Given the description of an element on the screen output the (x, y) to click on. 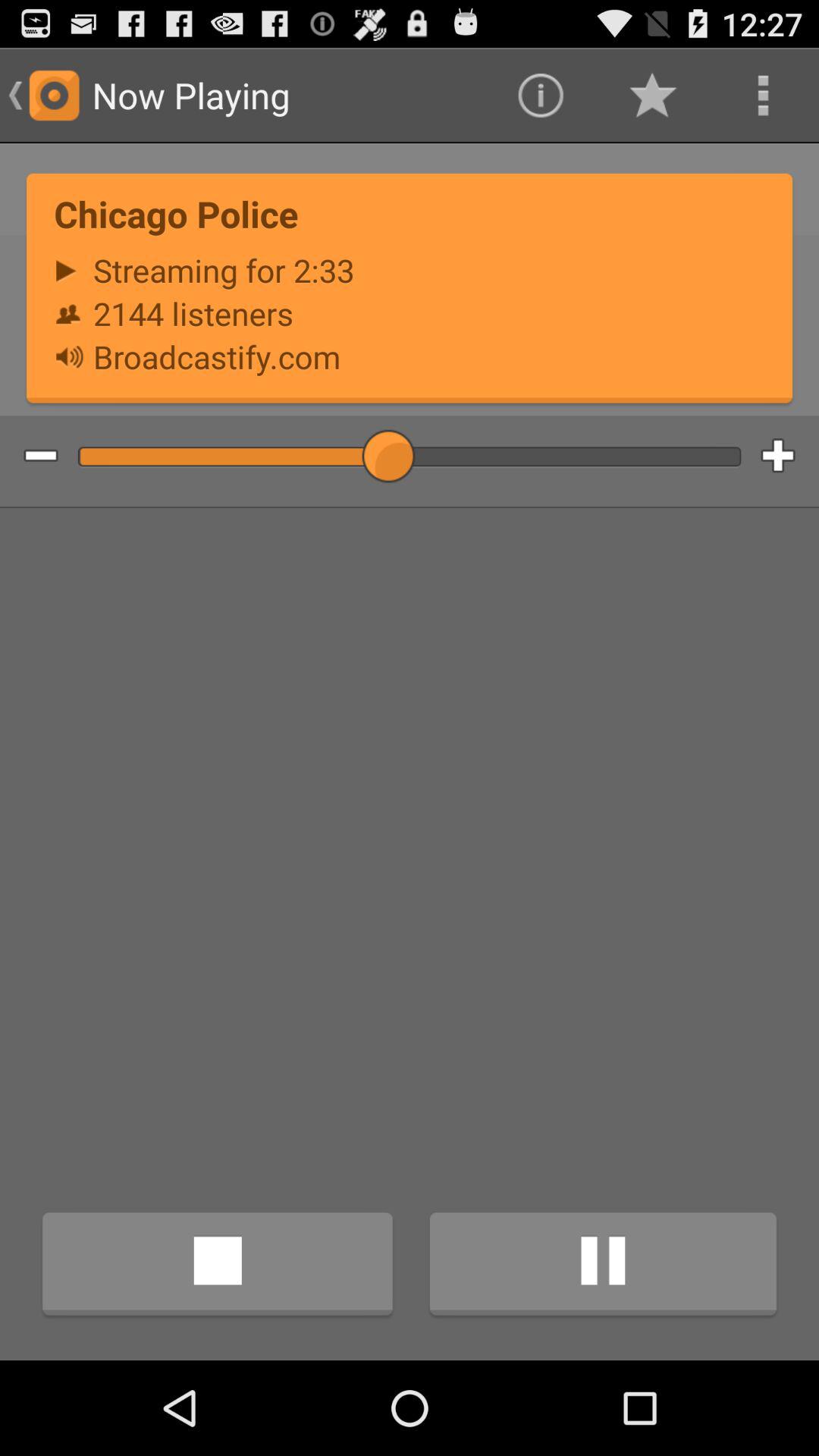
increase volume (789, 456)
